Given the description of an element on the screen output the (x, y) to click on. 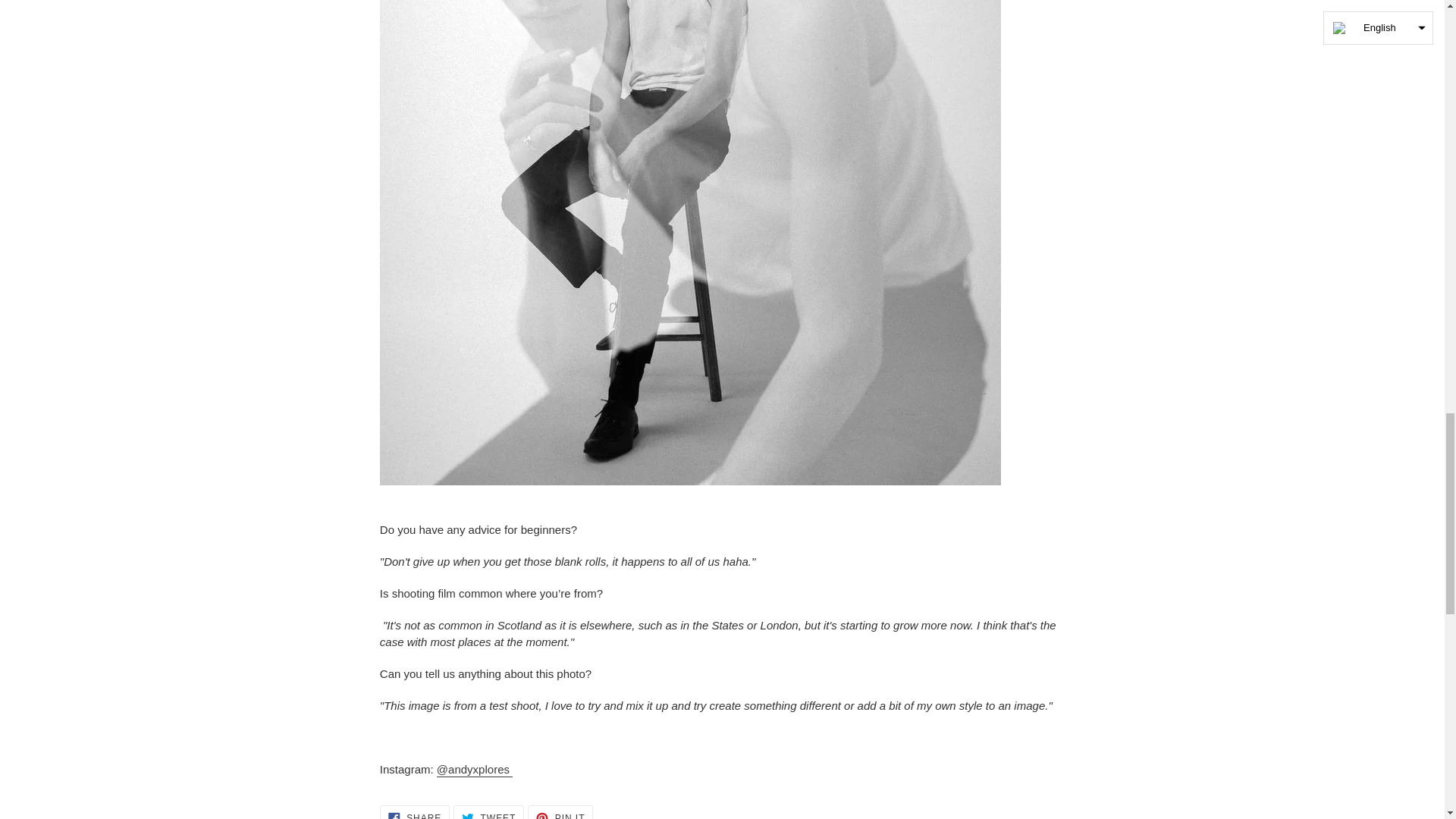
Instagram (488, 812)
